Given the description of an element on the screen output the (x, y) to click on. 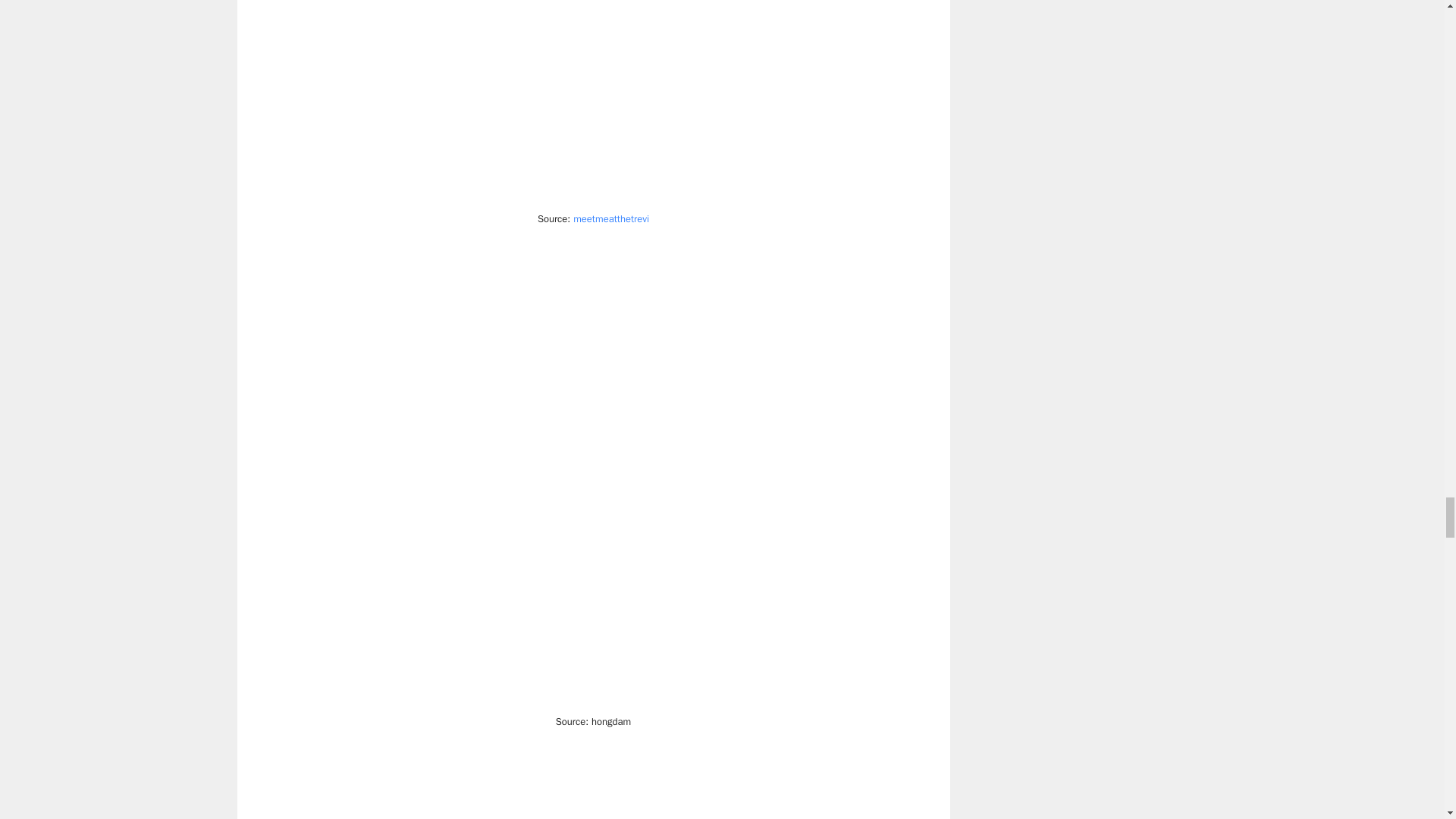
meetmeatthetrevi (611, 218)
